Given the description of an element on the screen output the (x, y) to click on. 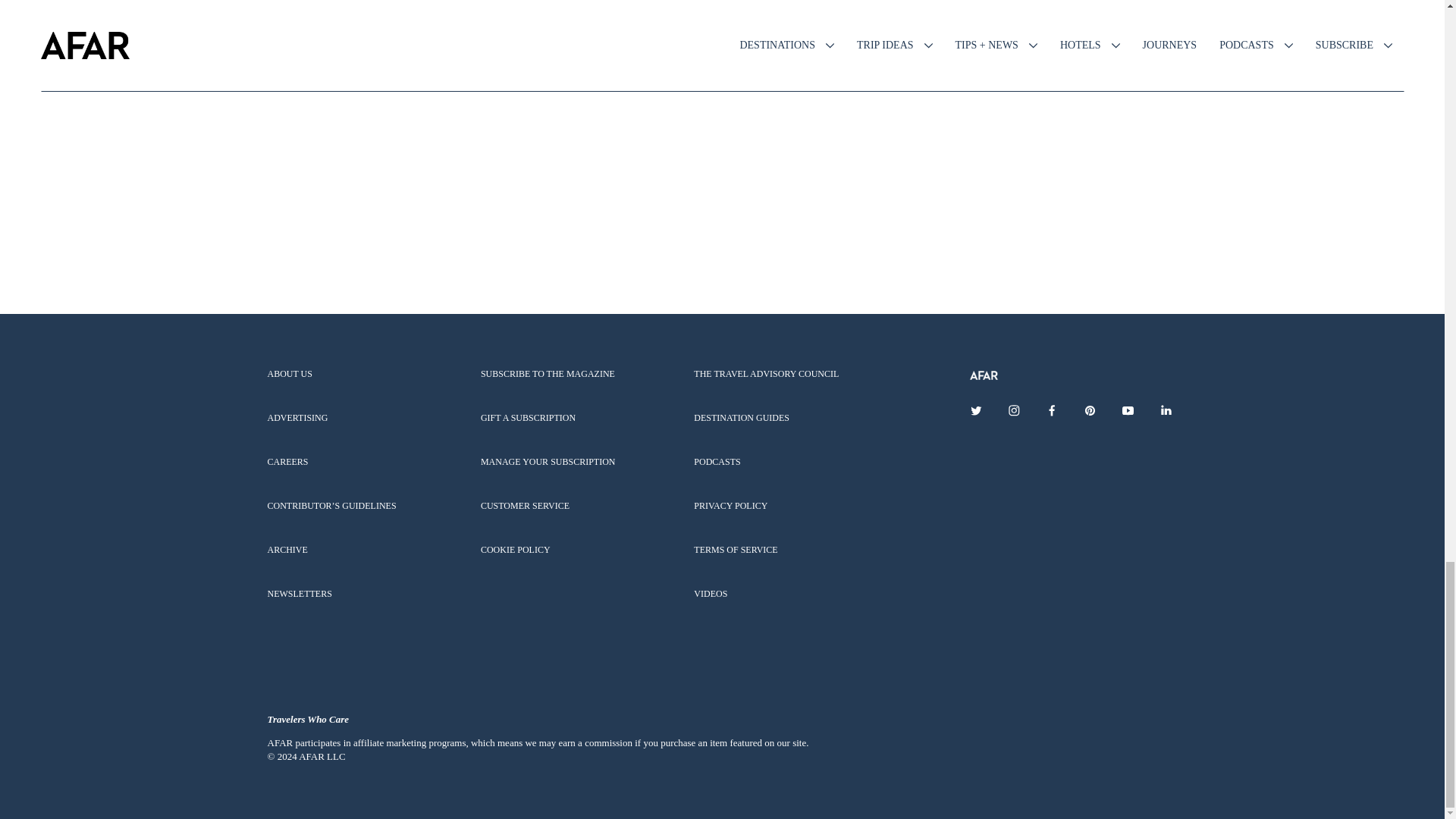
3rd party ad content (721, 219)
